Given the description of an element on the screen output the (x, y) to click on. 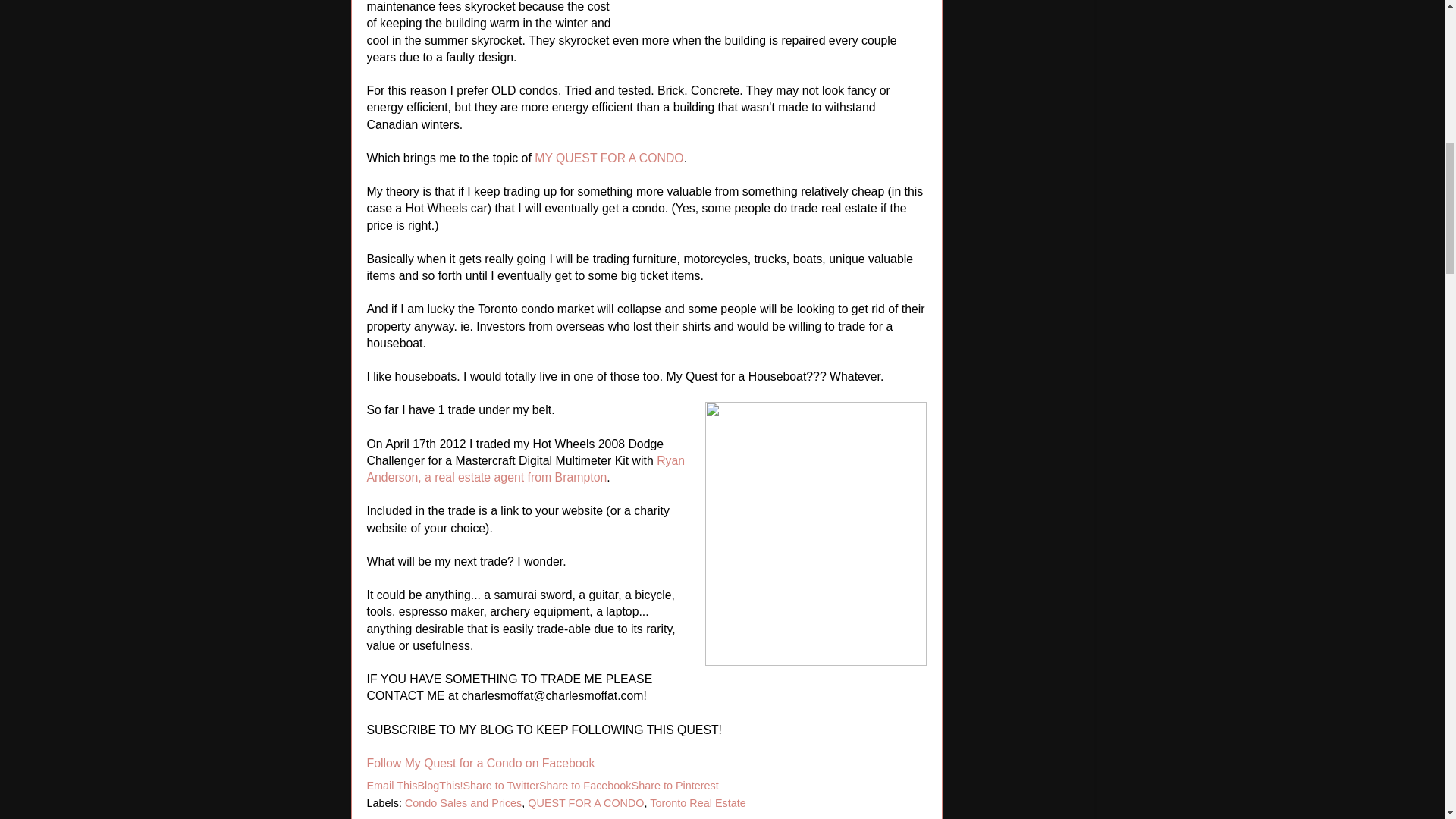
Share to Twitter (500, 785)
BlogThis! (439, 785)
Share to Facebook (584, 785)
Email This (391, 785)
Share to Pinterest (675, 785)
